Given the description of an element on the screen output the (x, y) to click on. 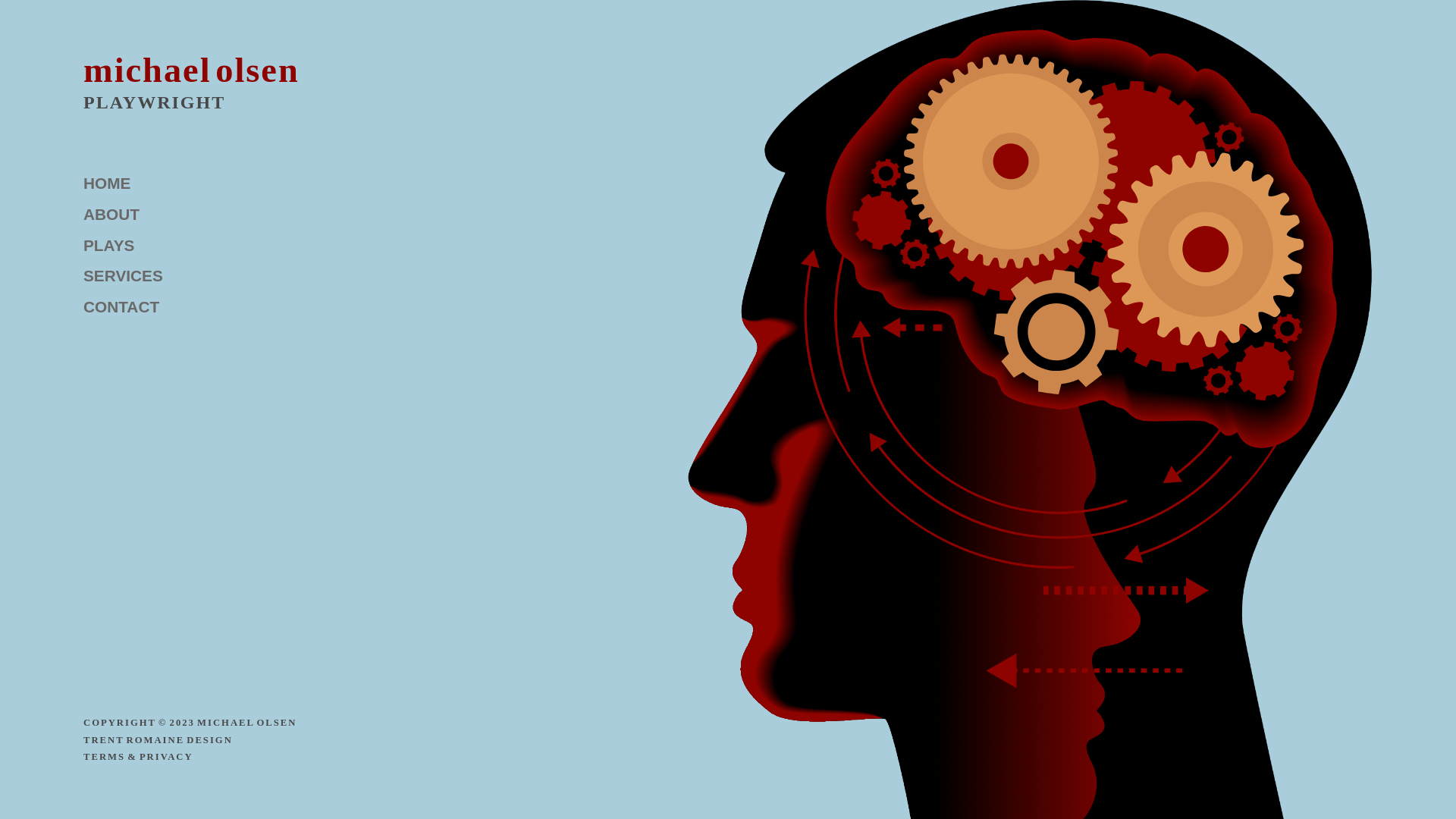
SERVICES Element type: text (248, 275)
HOME Element type: text (248, 183)
michael olsen Element type: text (191, 69)
TRENT ROMAINE DESIGN Element type: text (157, 739)
PRIVACY Element type: text (166, 756)
ABOUT Element type: text (248, 214)
TERMS Element type: text (104, 756)
CONTACT Element type: text (248, 306)
PLAYS Element type: text (248, 244)
